Given the description of an element on the screen output the (x, y) to click on. 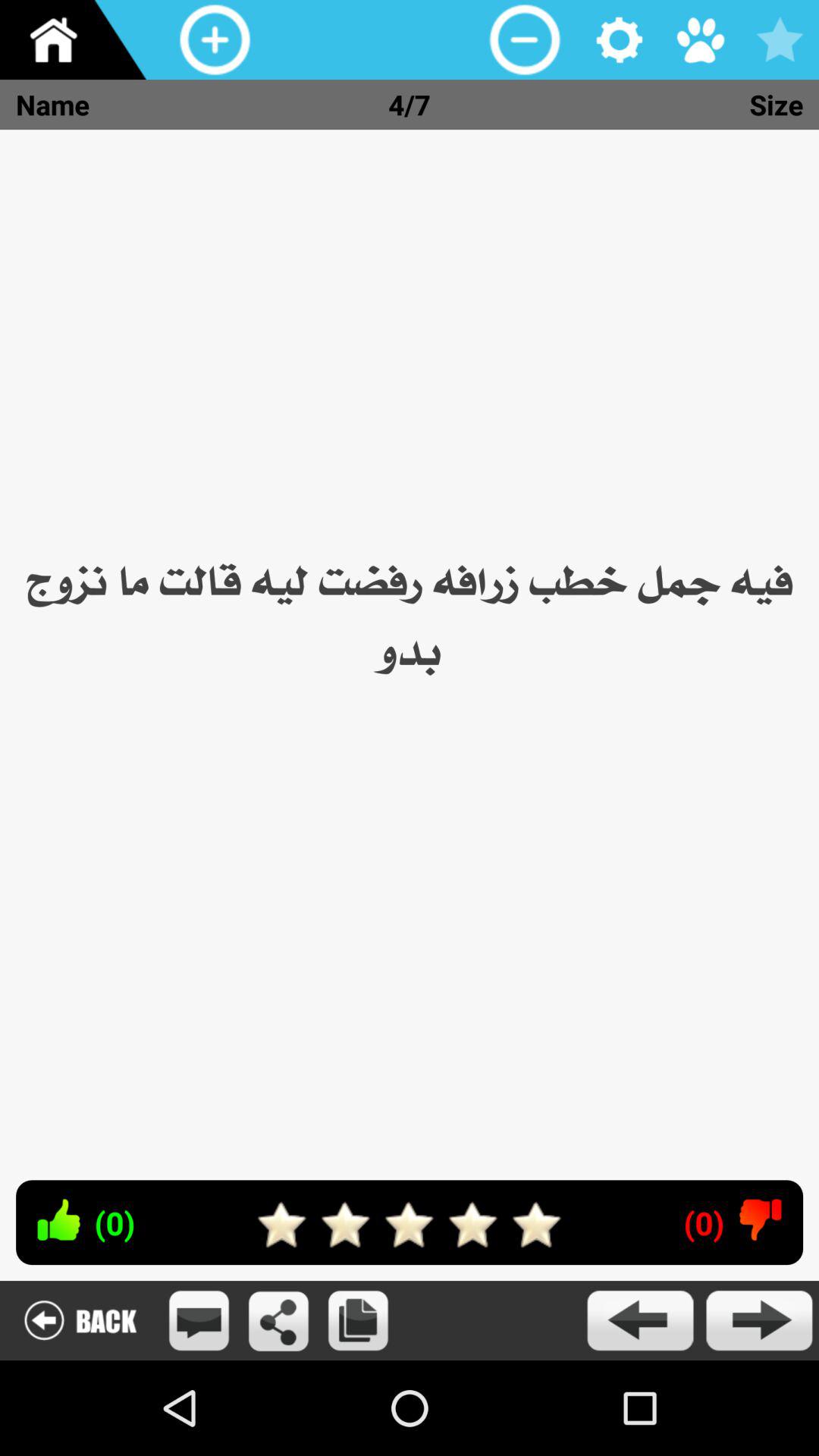
home screen (79, 39)
